Given the description of an element on the screen output the (x, y) to click on. 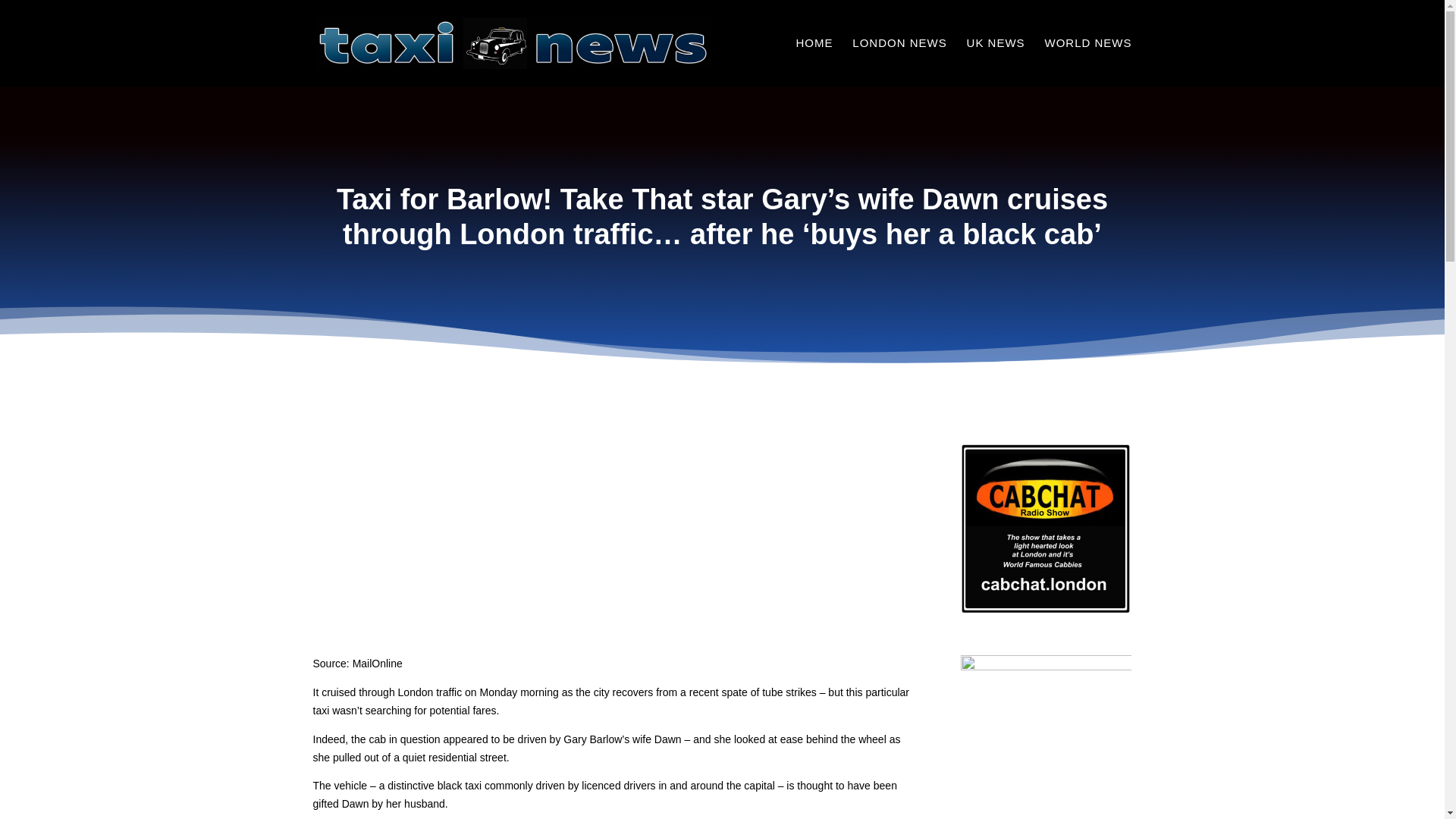
Cab Chat New Pic 2 (1045, 528)
WORLD NEWS (1088, 61)
UK NEWS (995, 61)
LONDON NEWS (898, 61)
